Given the description of an element on the screen output the (x, y) to click on. 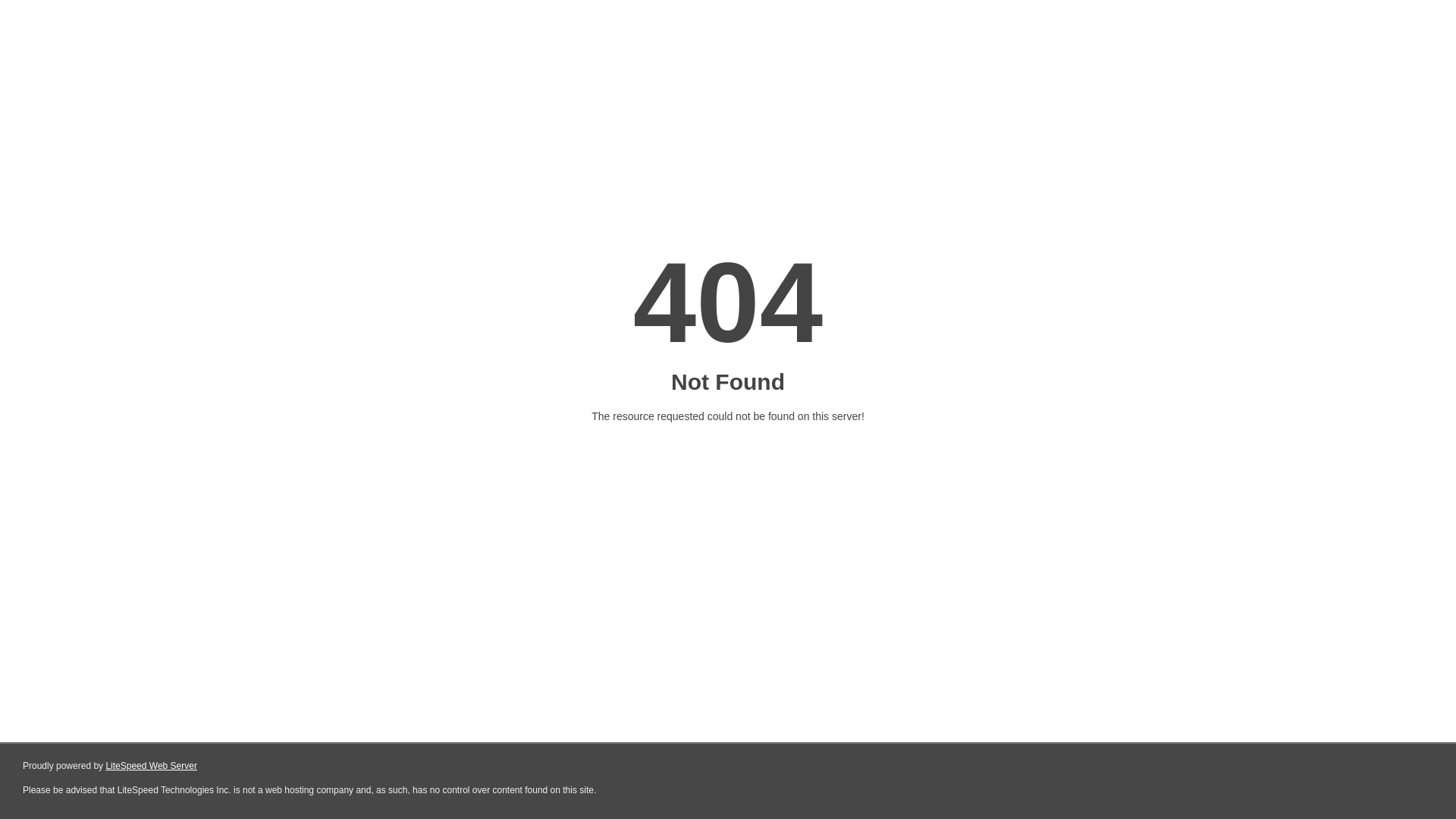
LiteSpeed Web Server Element type: text (151, 765)
